Given the description of an element on the screen output the (x, y) to click on. 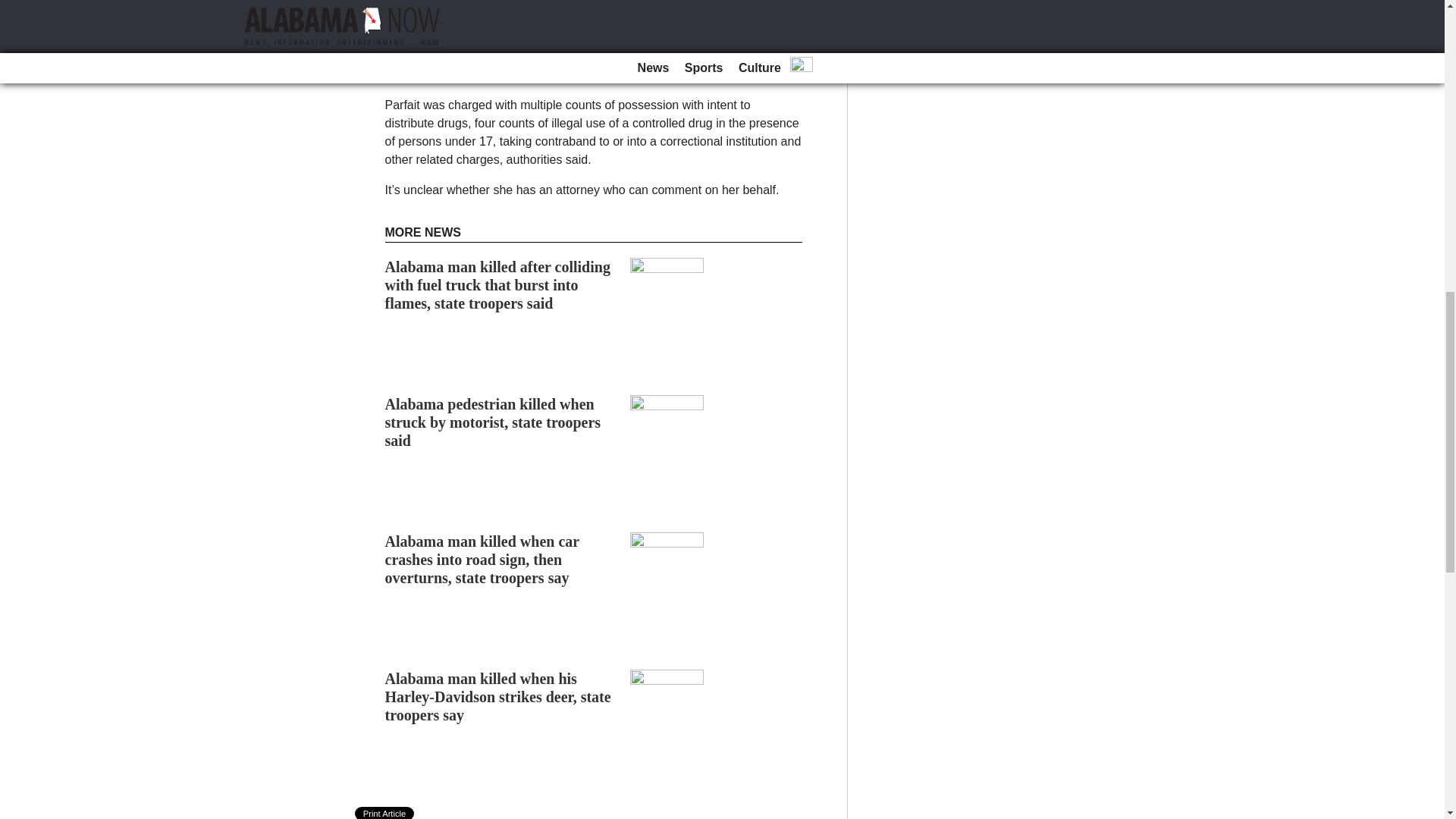
Print Article (384, 812)
